Given the description of an element on the screen output the (x, y) to click on. 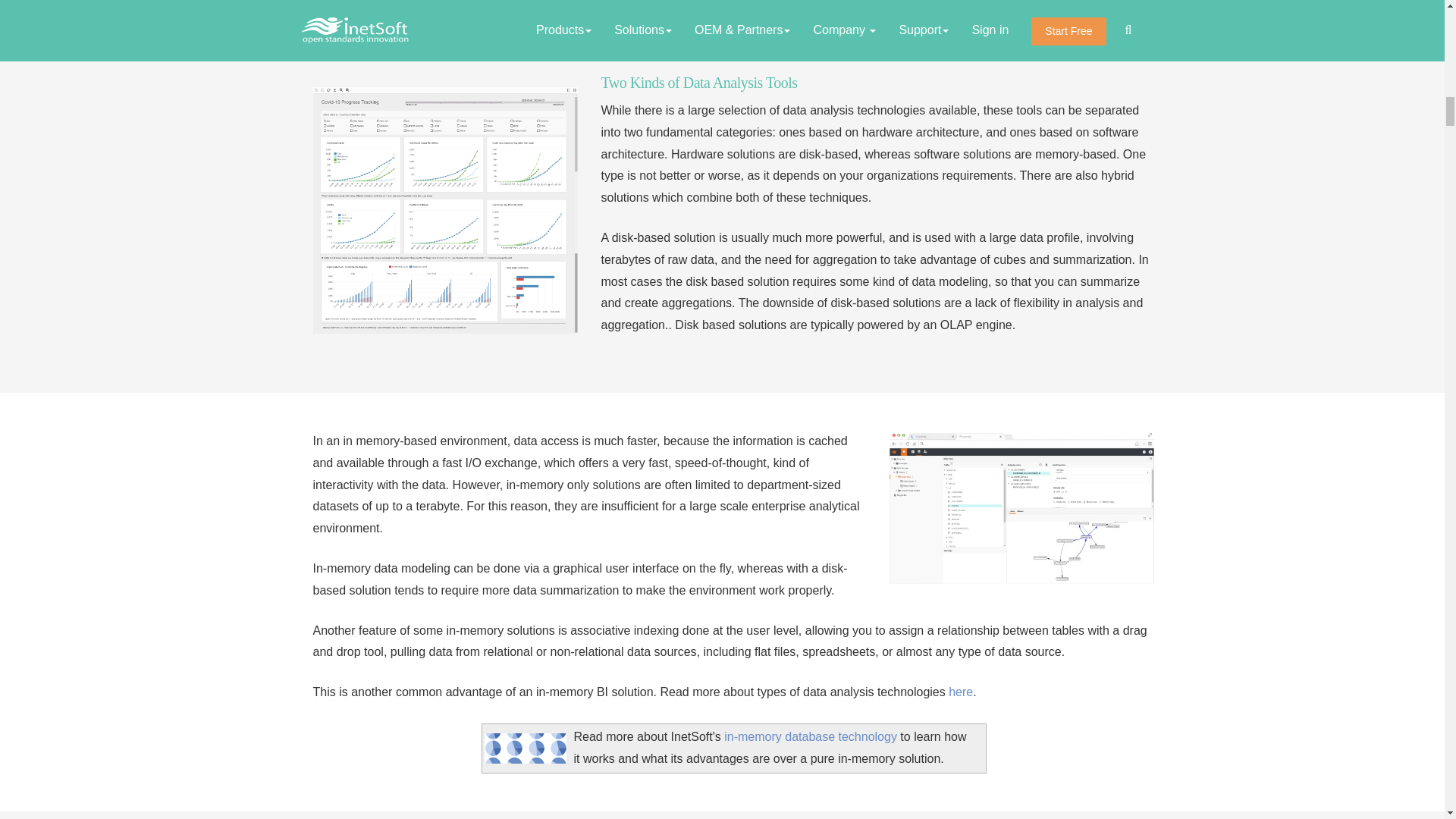
Learn more about InetSoft's data grid cache (524, 747)
Learn more about InetSoft's data grid cache (809, 736)
